Given the description of an element on the screen output the (x, y) to click on. 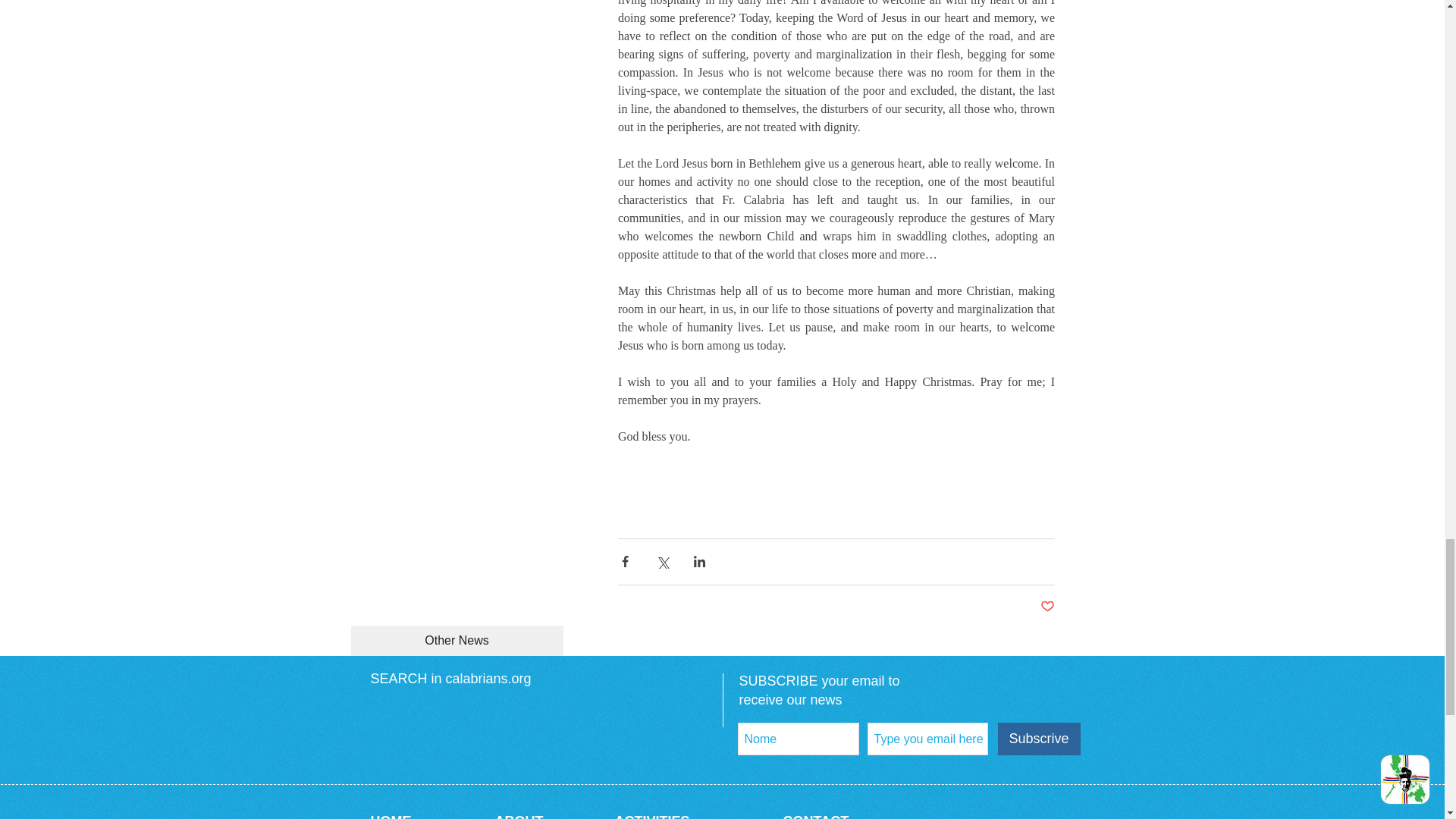
Other News (456, 640)
Site Search (534, 716)
ABOUT (519, 816)
HOME (389, 816)
Subscrive (1038, 738)
